Given the description of an element on the screen output the (x, y) to click on. 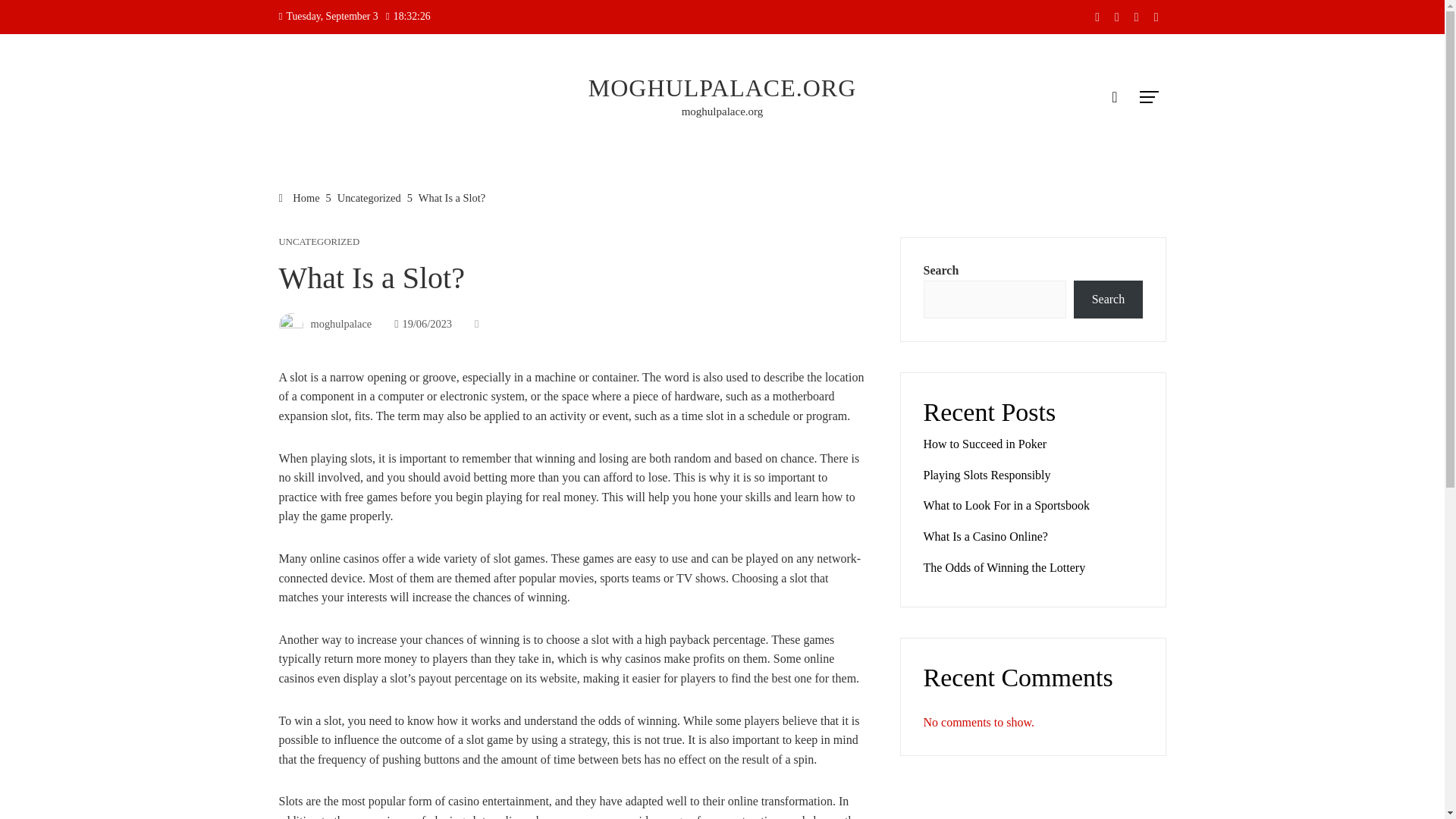
Playing Slots Responsibly (987, 474)
How to Succeed in Poker (984, 443)
moghulpalace.org (721, 111)
UNCATEGORIZED (319, 242)
Uncategorized (369, 197)
Search (1107, 299)
MOGHULPALACE.ORG (722, 87)
What to Look For in a Sportsbook (1006, 504)
The Odds of Winning the Lottery (1004, 567)
What Is a Casino Online? (985, 535)
